Given the description of an element on the screen output the (x, y) to click on. 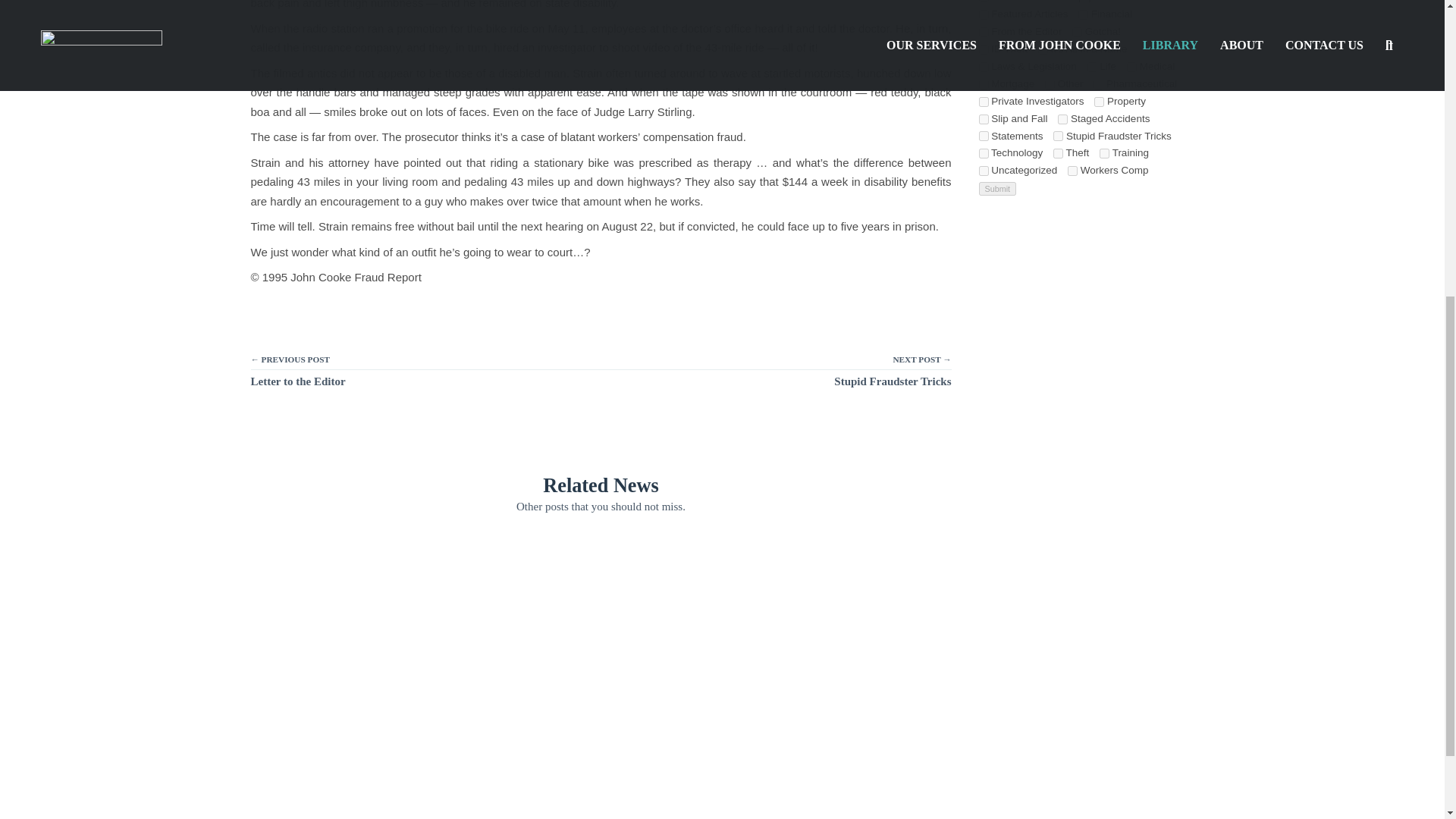
47 (983, 49)
11 (983, 14)
35 (983, 31)
29 (1082, 14)
Submit (997, 188)
3 (1043, 49)
49 (1076, 31)
